Given the description of an element on the screen output the (x, y) to click on. 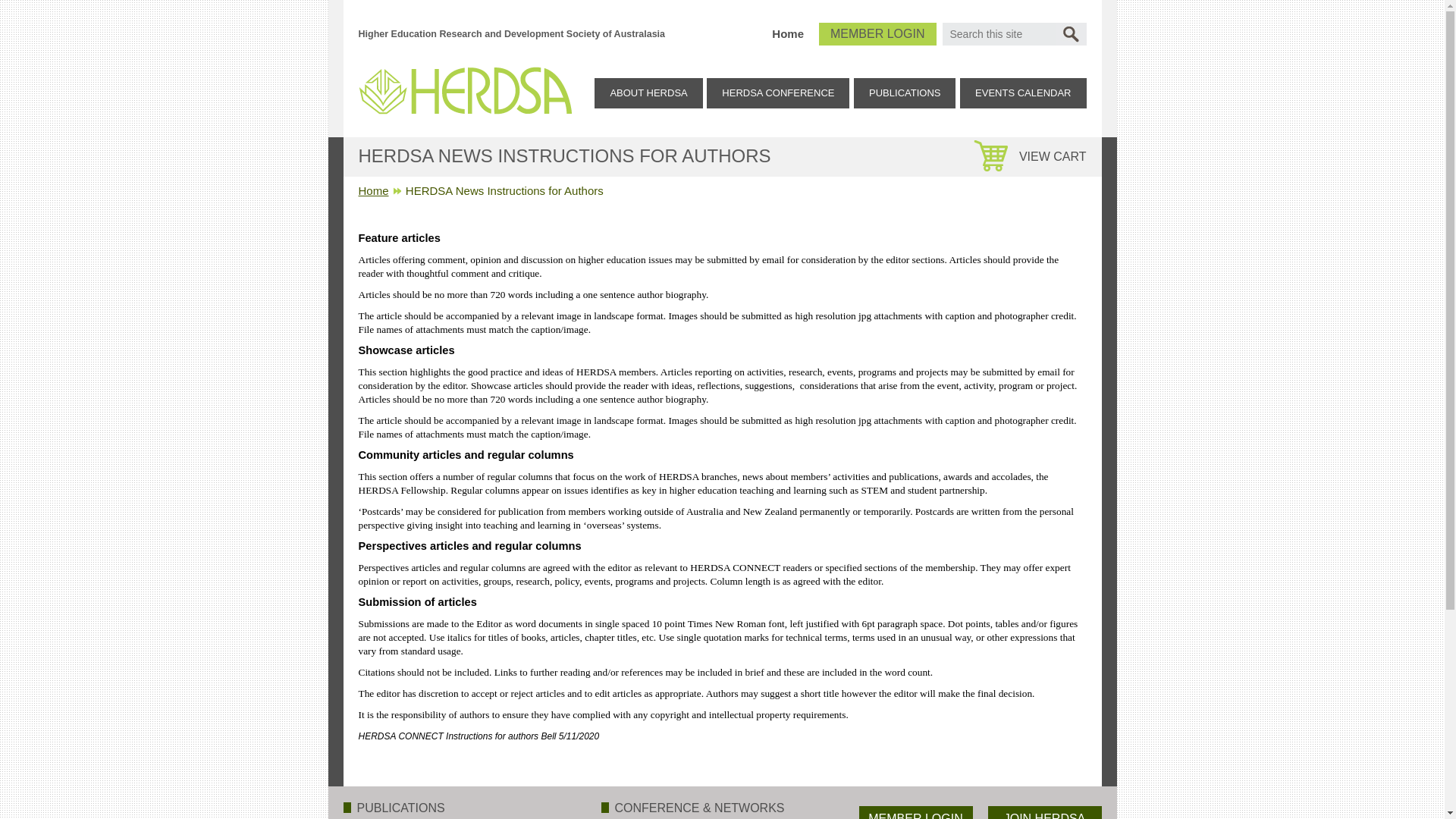
MEMBER LOGIN Element type: text (877, 33)
HERDSA CONFERENCE Element type: text (777, 93)
VIEW CART Element type: text (1037, 159)
EVENTS CALENDAR Element type: text (1022, 93)
Home Element type: text (787, 33)
Home Element type: text (372, 190)
Skip to main content Element type: text (51, 0)
Enter the terms you wish to search for. Element type: hover (997, 33)
ABOUT HERDSA Element type: text (648, 93)
Search Element type: text (1070, 33)
herdsa.org.au Element type: hover (464, 87)
PUBLICATIONS Element type: text (904, 93)
